Given the description of an element on the screen output the (x, y) to click on. 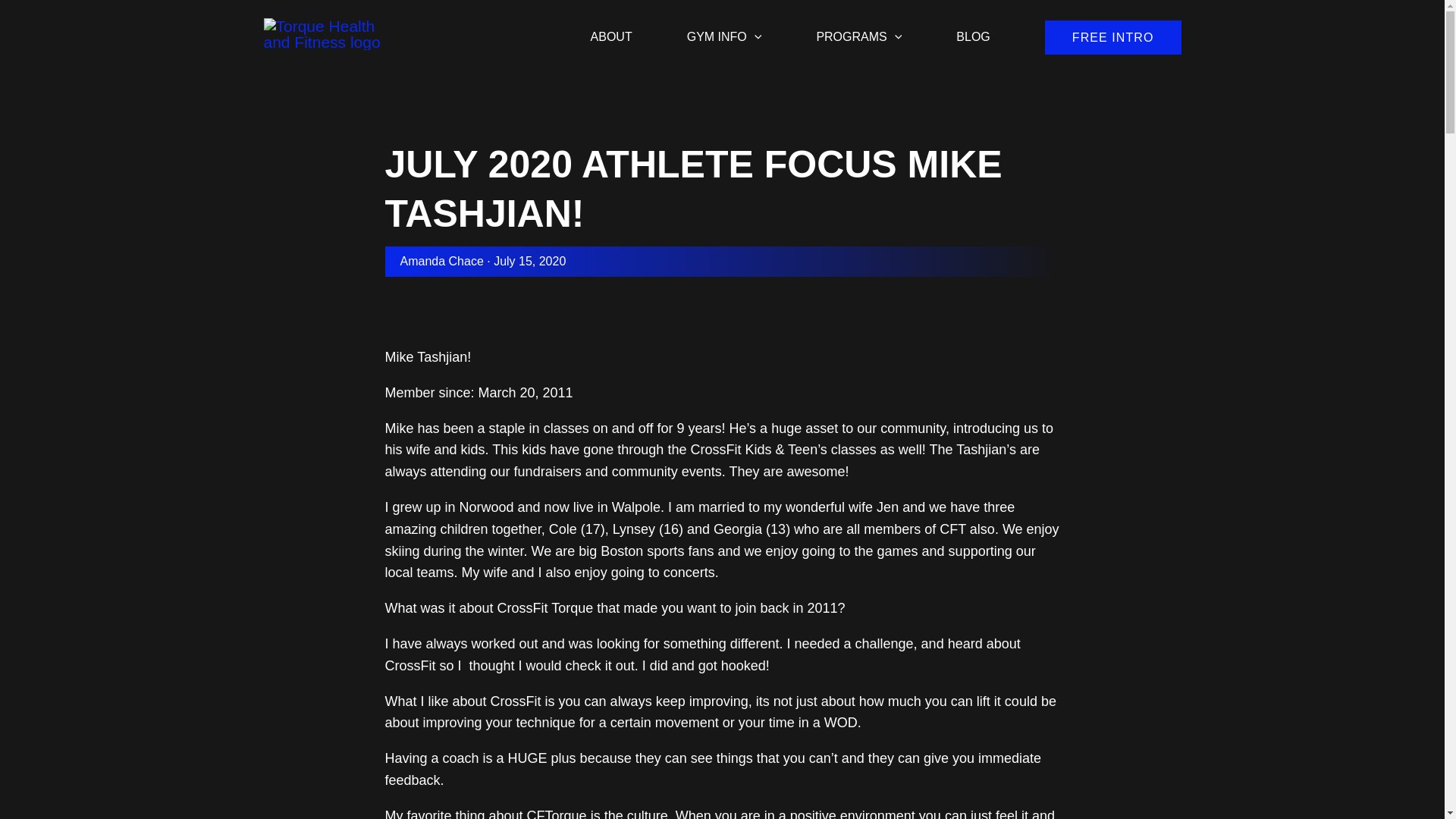
ABOUT (611, 27)
PROGRAMS (858, 27)
BLOG (972, 27)
GYM INFO (724, 27)
FREE INTRO (1112, 37)
